Given the description of an element on the screen output the (x, y) to click on. 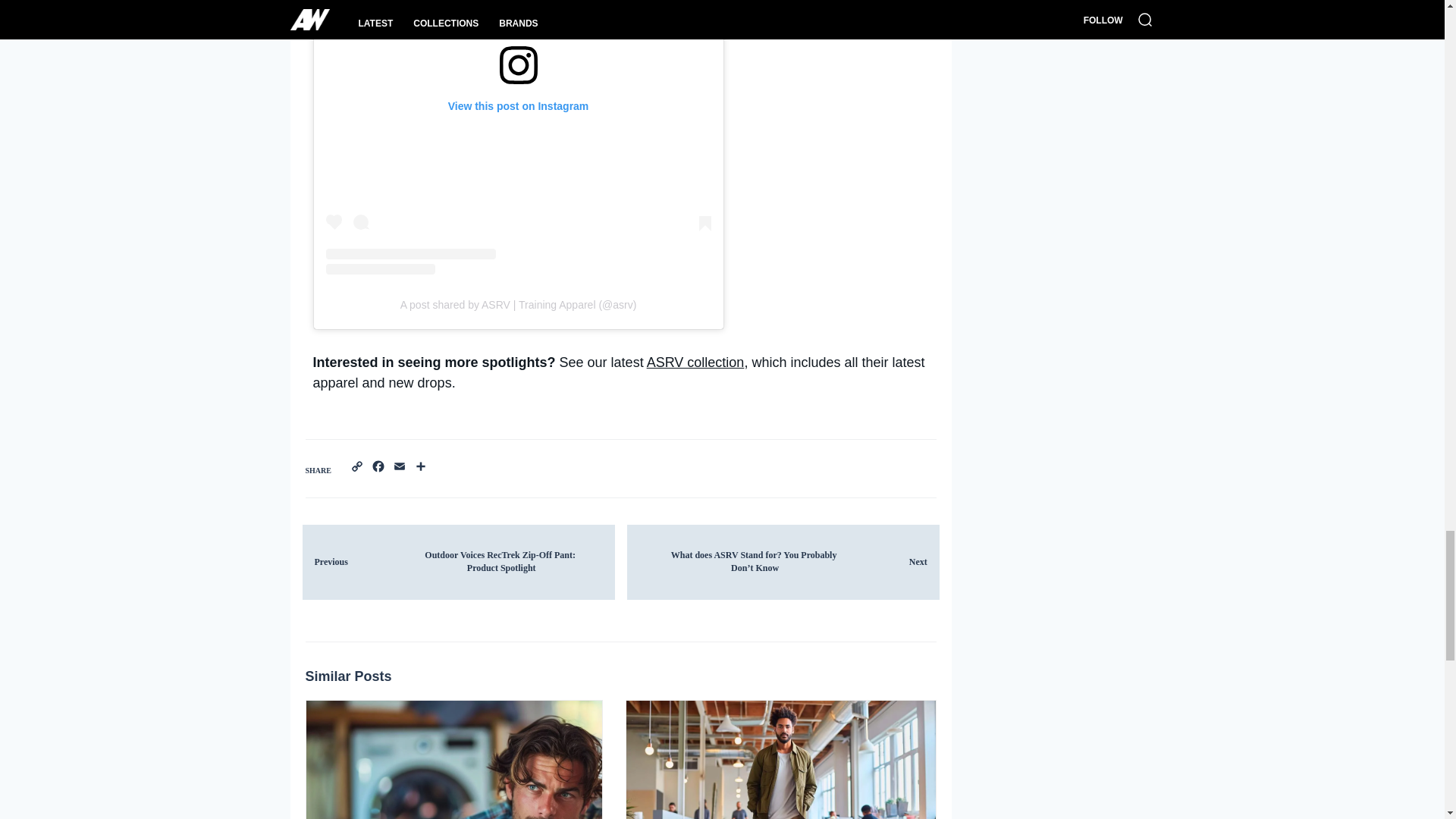
Facebook (378, 467)
Copy Link (357, 467)
Email (399, 467)
